Given the description of an element on the screen output the (x, y) to click on. 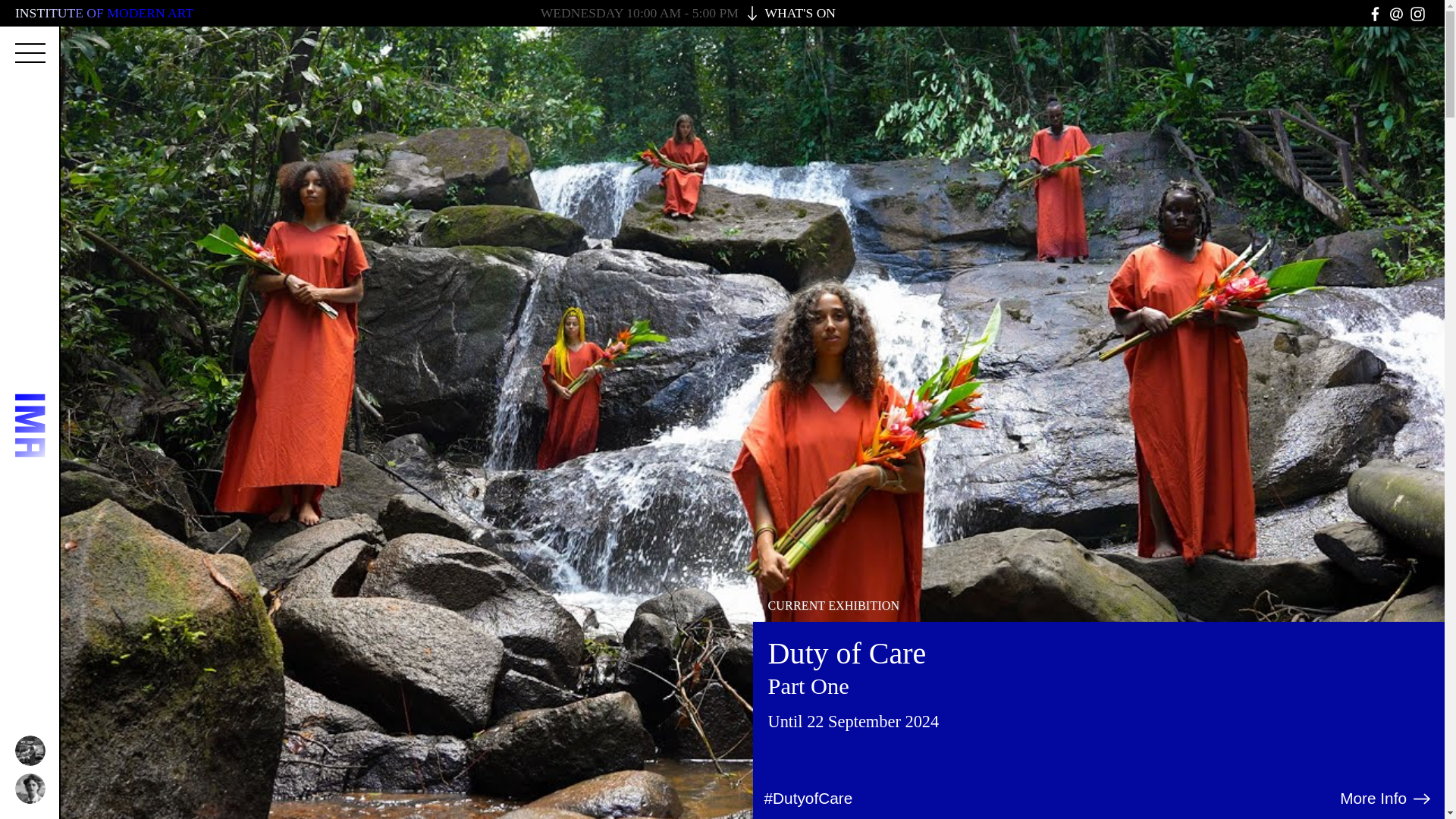
Duty of Care (846, 653)
INSTITUTE OF MODERN ART (103, 12)
More Info (1385, 798)
